Given the description of an element on the screen output the (x, y) to click on. 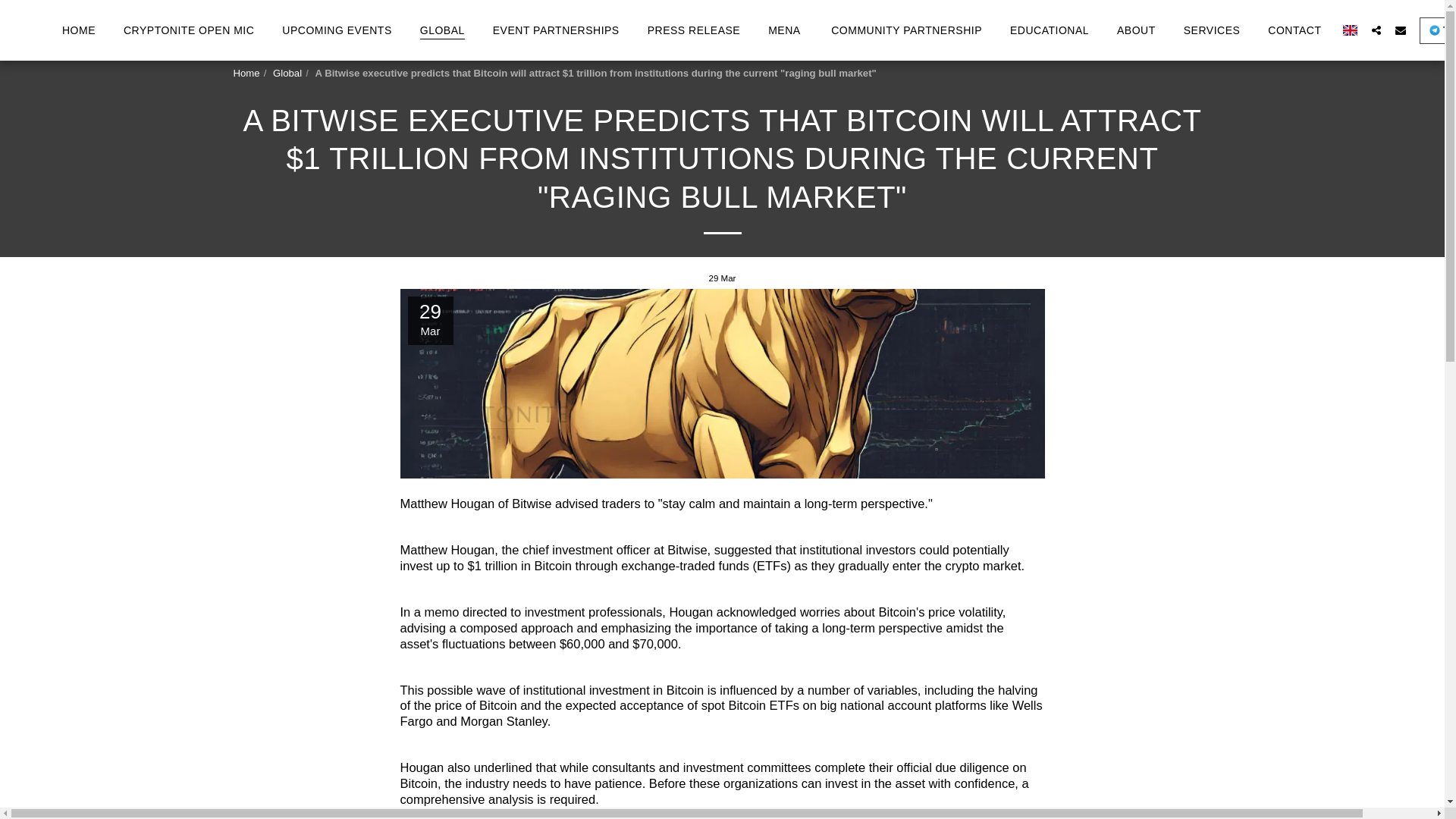
ABOUT (1136, 29)
PRESS RELEASE (693, 29)
EVENT PARTNERSHIPS (555, 29)
Home (246, 72)
CONTACT (1294, 29)
CRYPTONITE OPEN MIC (189, 29)
UPCOMING EVENTS (336, 29)
EDUCATIONAL (1048, 29)
HOME (78, 29)
